Given the description of an element on the screen output the (x, y) to click on. 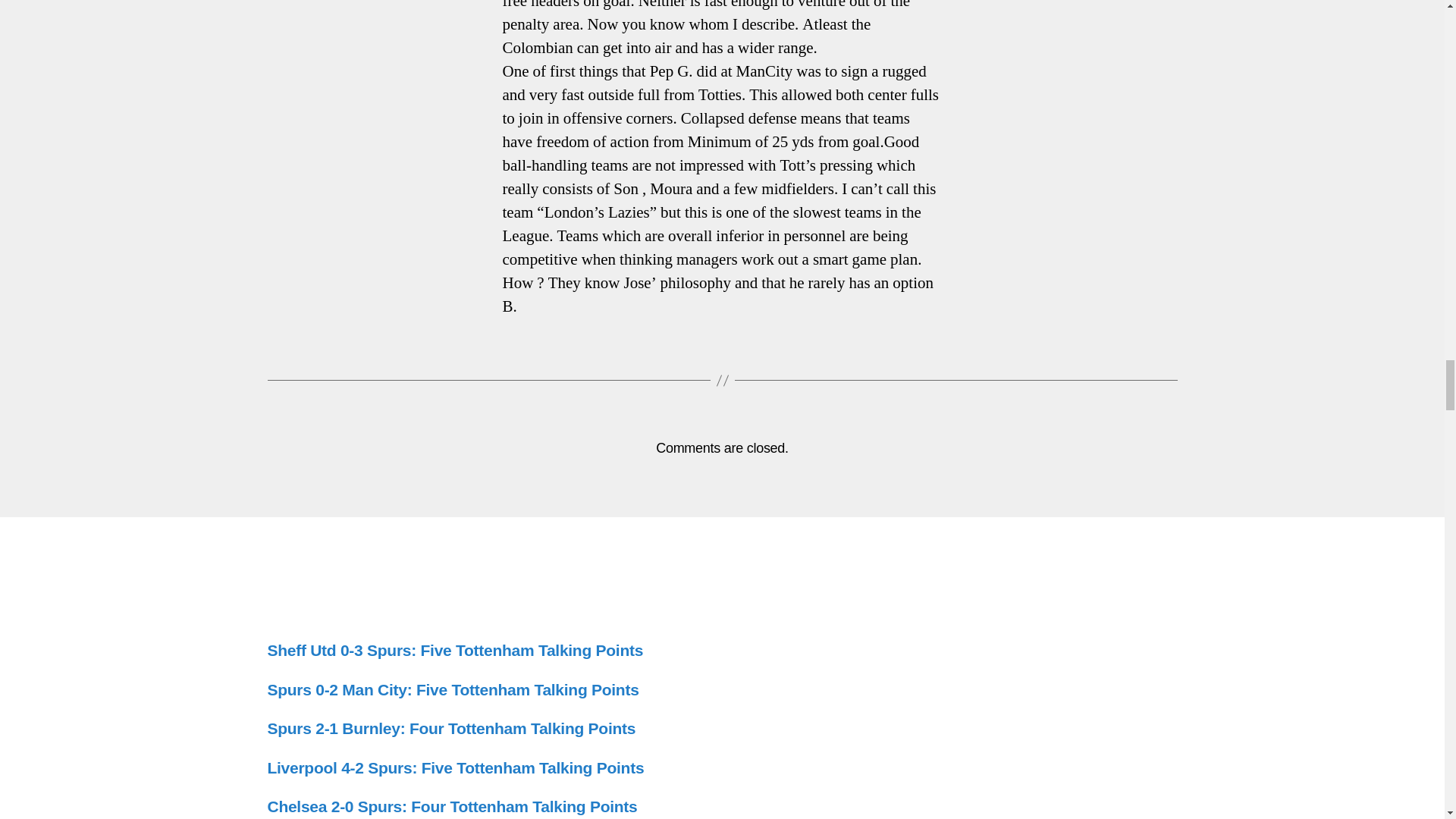
Spurs 0-2 Man City: Five Tottenham Talking Points (452, 689)
Sheff Utd 0-3 Spurs: Five Tottenham Talking Points (454, 650)
Chelsea 2-0 Spurs: Four Tottenham Talking Points (451, 805)
Spurs 2-1 Burnley: Four Tottenham Talking Points (450, 728)
Liverpool 4-2 Spurs: Five Tottenham Talking Points (454, 767)
